Given the description of an element on the screen output the (x, y) to click on. 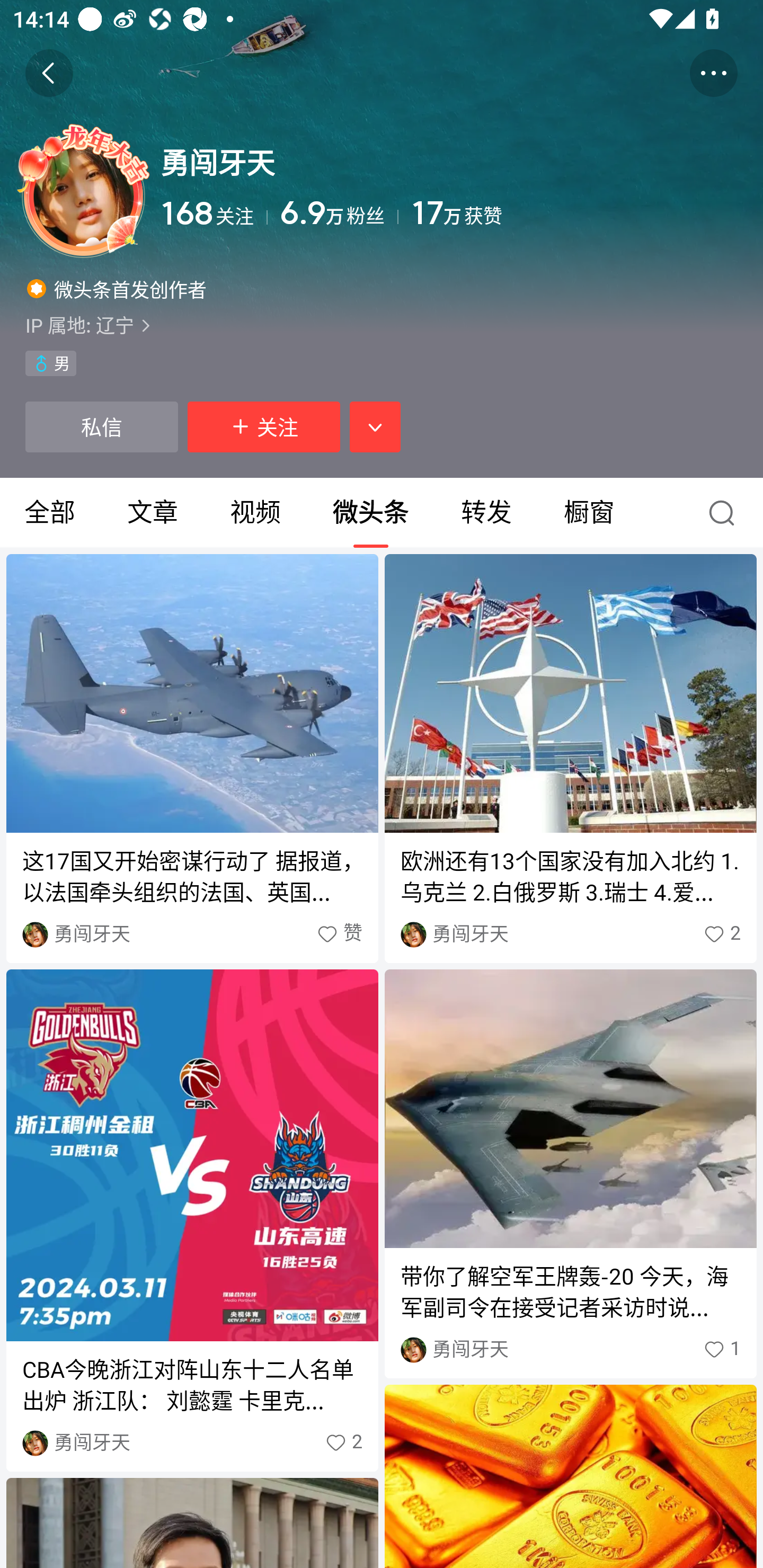
返回 (49, 72)
更多操作 (713, 72)
头像 (83, 191)
168 关注 (213, 213)
6.9万 粉丝 (339, 213)
17万 获赞 (574, 213)
微头条首发创作者 (116, 288)
IP 属地: 辽宁 (381, 325)
性别男 男 (50, 363)
私信 (101, 427)
     关注 (263, 427)
展开相关推荐，按钮 (374, 427)
全部 (50, 512)
文章 (152, 512)
视频 (254, 512)
微头条 (370, 512)
转发 (485, 512)
橱窗 (588, 512)
搜索 (726, 512)
